Given the description of an element on the screen output the (x, y) to click on. 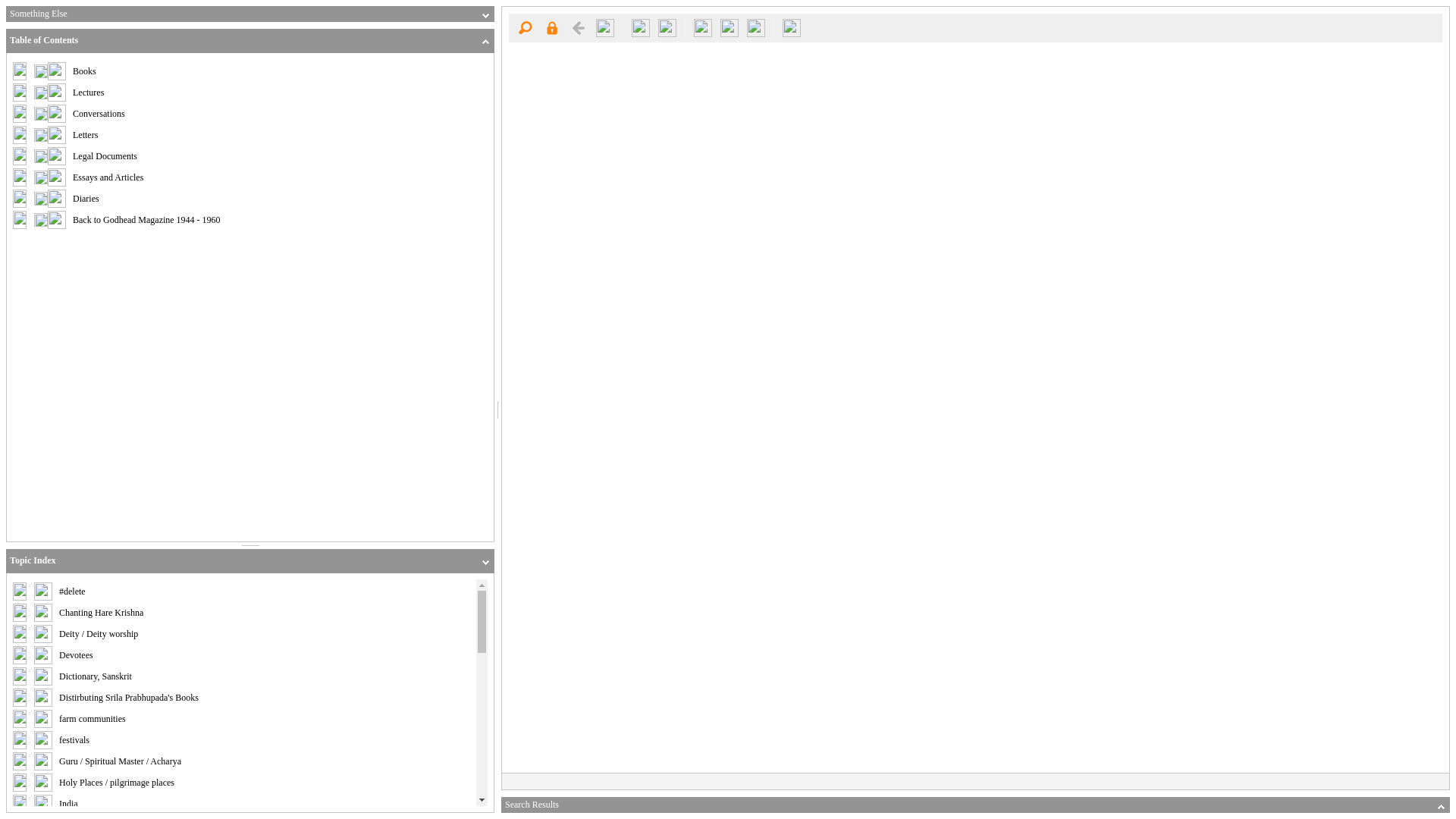
Next Document (604, 27)
Previous Document (578, 27)
Help (791, 27)
Login (551, 27)
Highlight Text (703, 27)
Bookmark (729, 27)
Next Search Hit (666, 27)
Previous Search Hit (640, 27)
Search (525, 27)
Settings (755, 27)
